Given the description of an element on the screen output the (x, y) to click on. 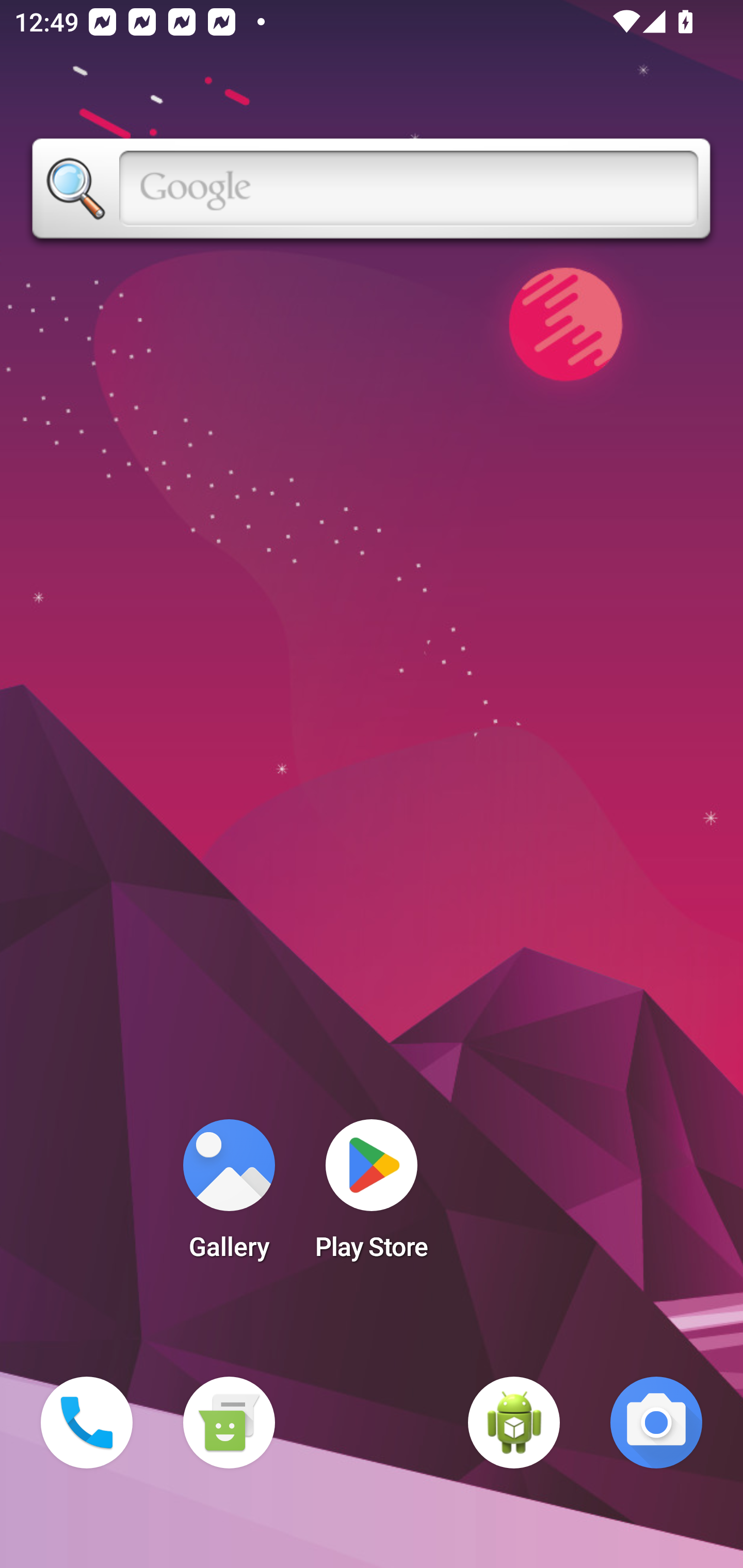
Gallery (228, 1195)
Play Store (371, 1195)
Phone (86, 1422)
Messaging (228, 1422)
WebView Browser Tester (513, 1422)
Camera (656, 1422)
